Given the description of an element on the screen output the (x, y) to click on. 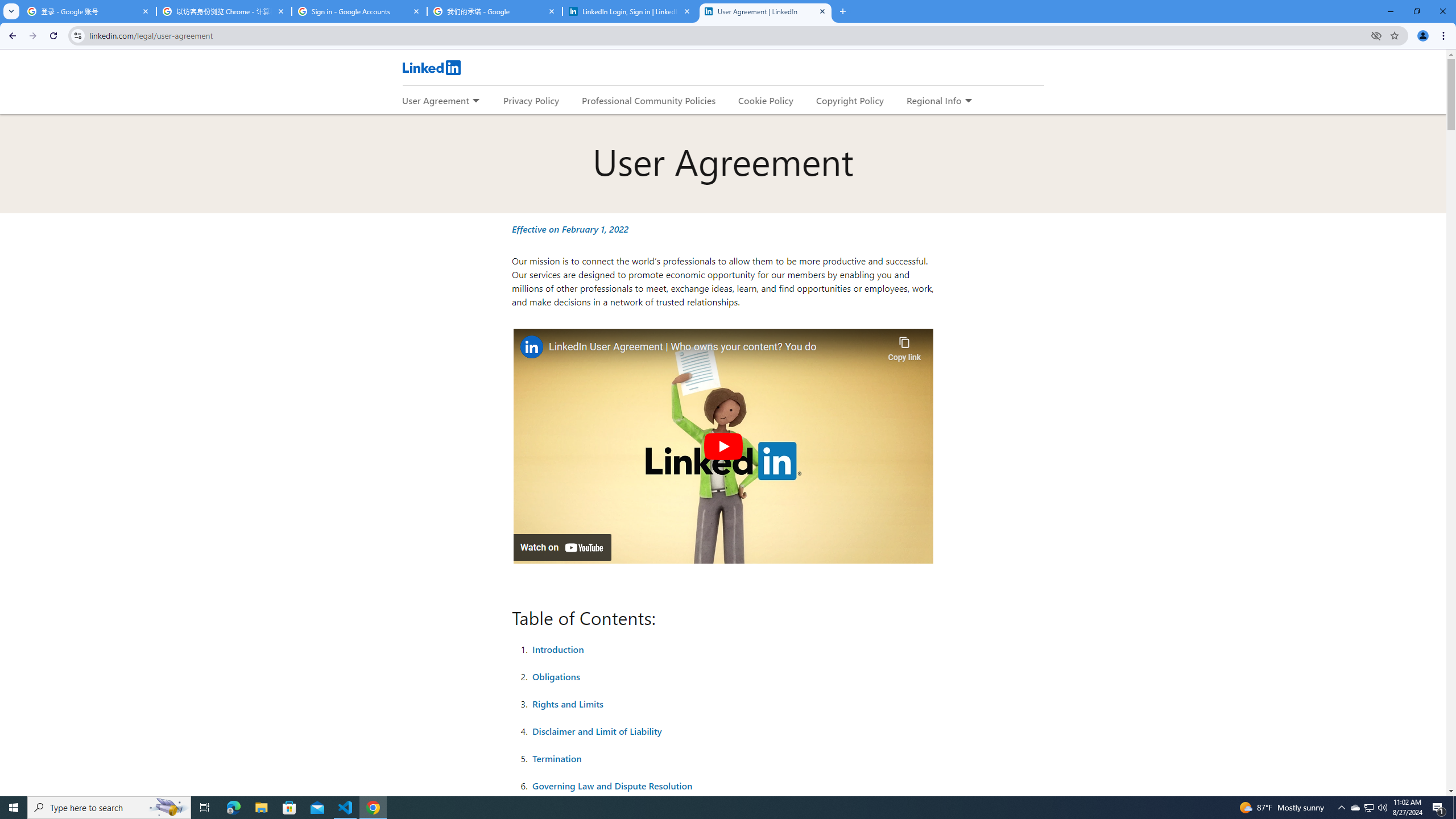
LinkedIn Login, Sign in | LinkedIn (630, 11)
LinkedIn Logo (430, 67)
Cookie Policy (765, 100)
Termination (557, 757)
Disclaimer and Limit of Liability (597, 730)
LinkedIn User Agreement | Who owns your content? You do (715, 347)
User Agreement (434, 100)
Sign in - Google Accounts (359, 11)
Expand to show more links for Regional Info (967, 101)
